Given the description of an element on the screen output the (x, y) to click on. 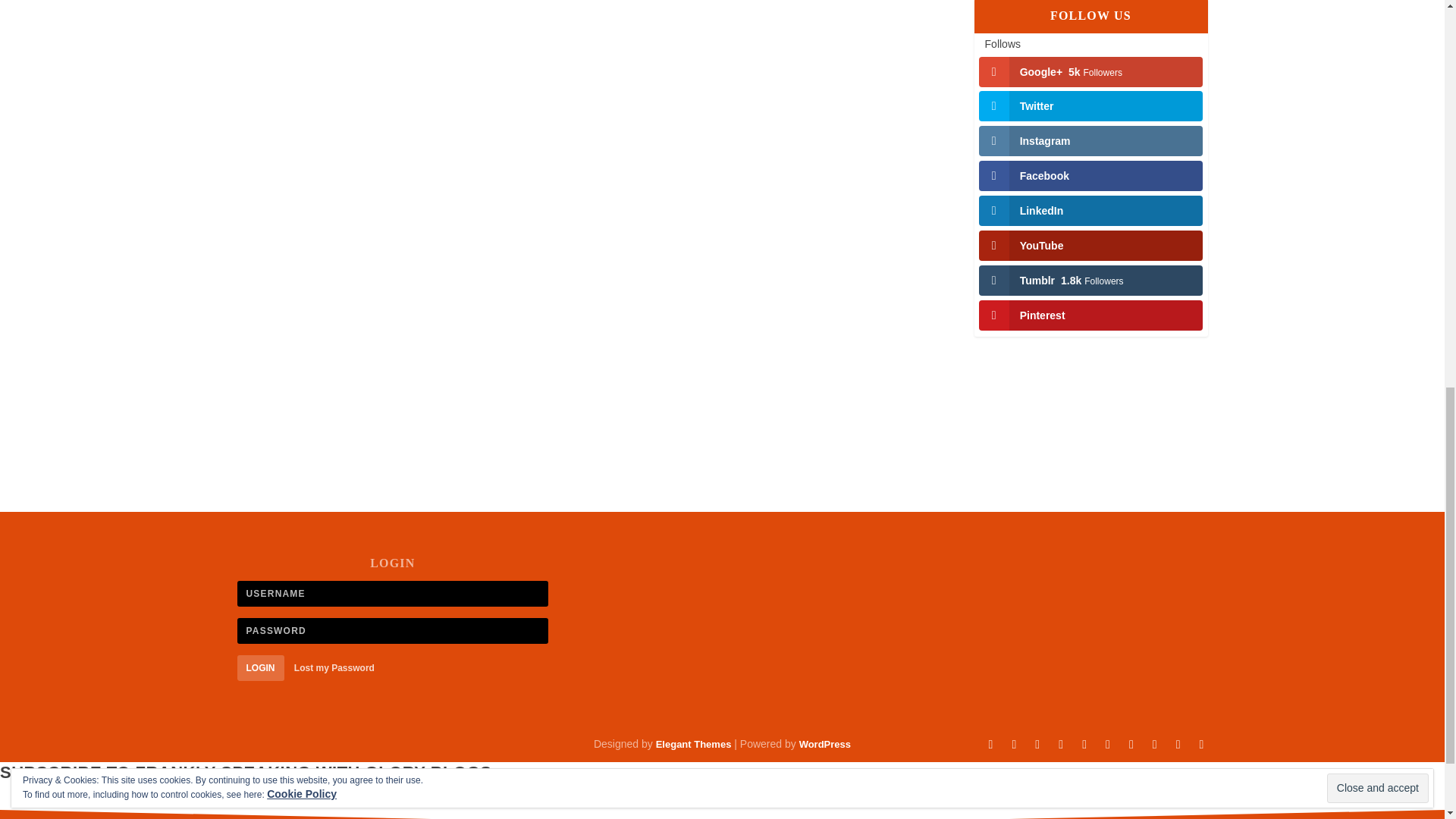
Premium WordPress Themes (694, 744)
